Given the description of an element on the screen output the (x, y) to click on. 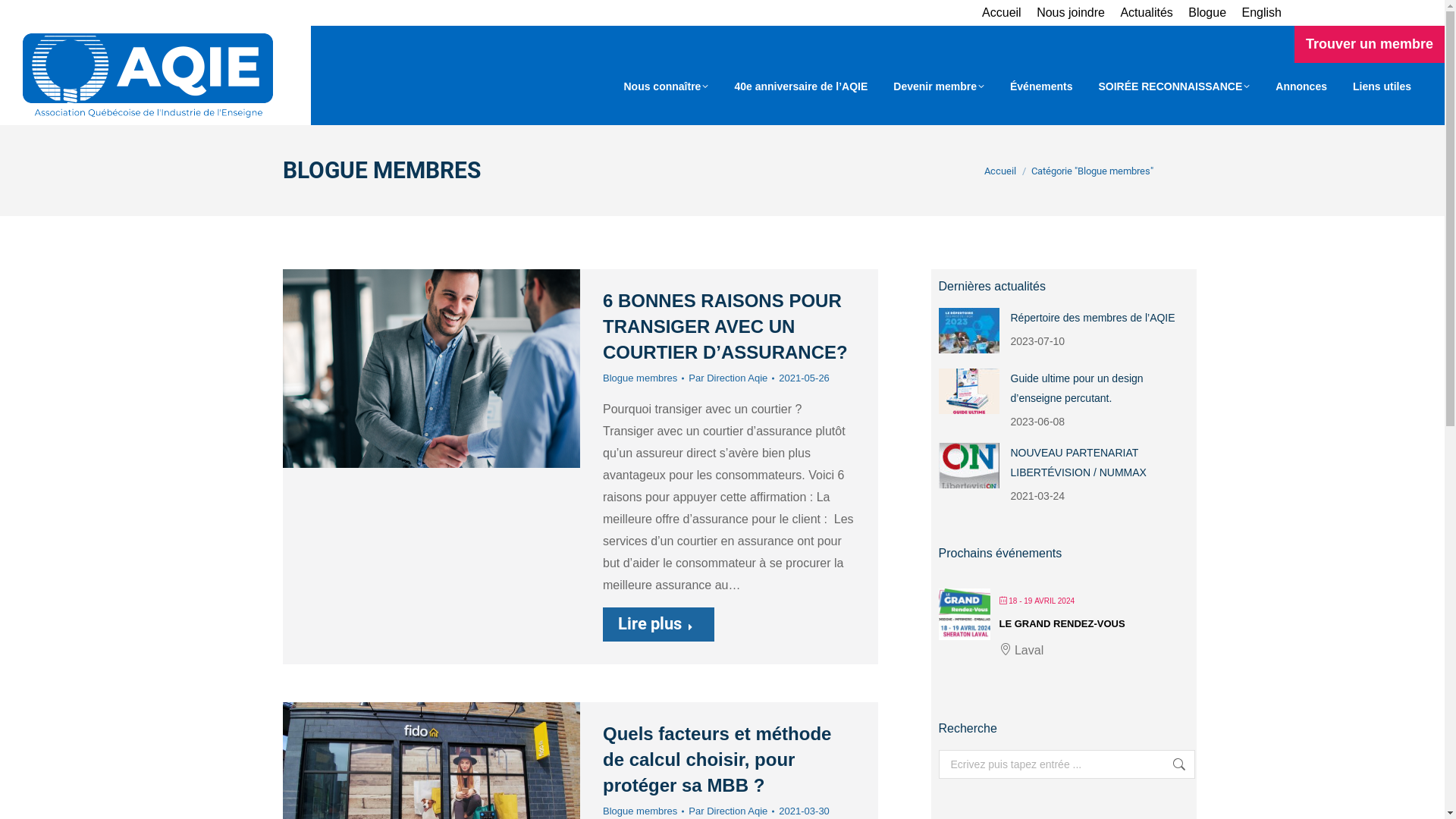
Accueil Element type: text (1001, 12)
Liens utiles Element type: text (1381, 85)
Transiger avec un courtier Element type: hover (431, 368)
Blogue Element type: text (1207, 12)
Lire plus Element type: text (658, 624)
2021-05-26 Element type: text (803, 377)
Par Direction Aqie Element type: text (731, 377)
Annonces Element type: text (1300, 85)
Accueil Element type: text (1000, 170)
Nous joindre Element type: text (1070, 12)
Blogue membres Element type: text (639, 377)
LE GRAND RENDEZ-VOUS Element type: text (1062, 623)
Aller ! Element type: text (1170, 763)
English Element type: text (1261, 12)
Devenir membre Element type: text (938, 85)
